Given the description of an element on the screen output the (x, y) to click on. 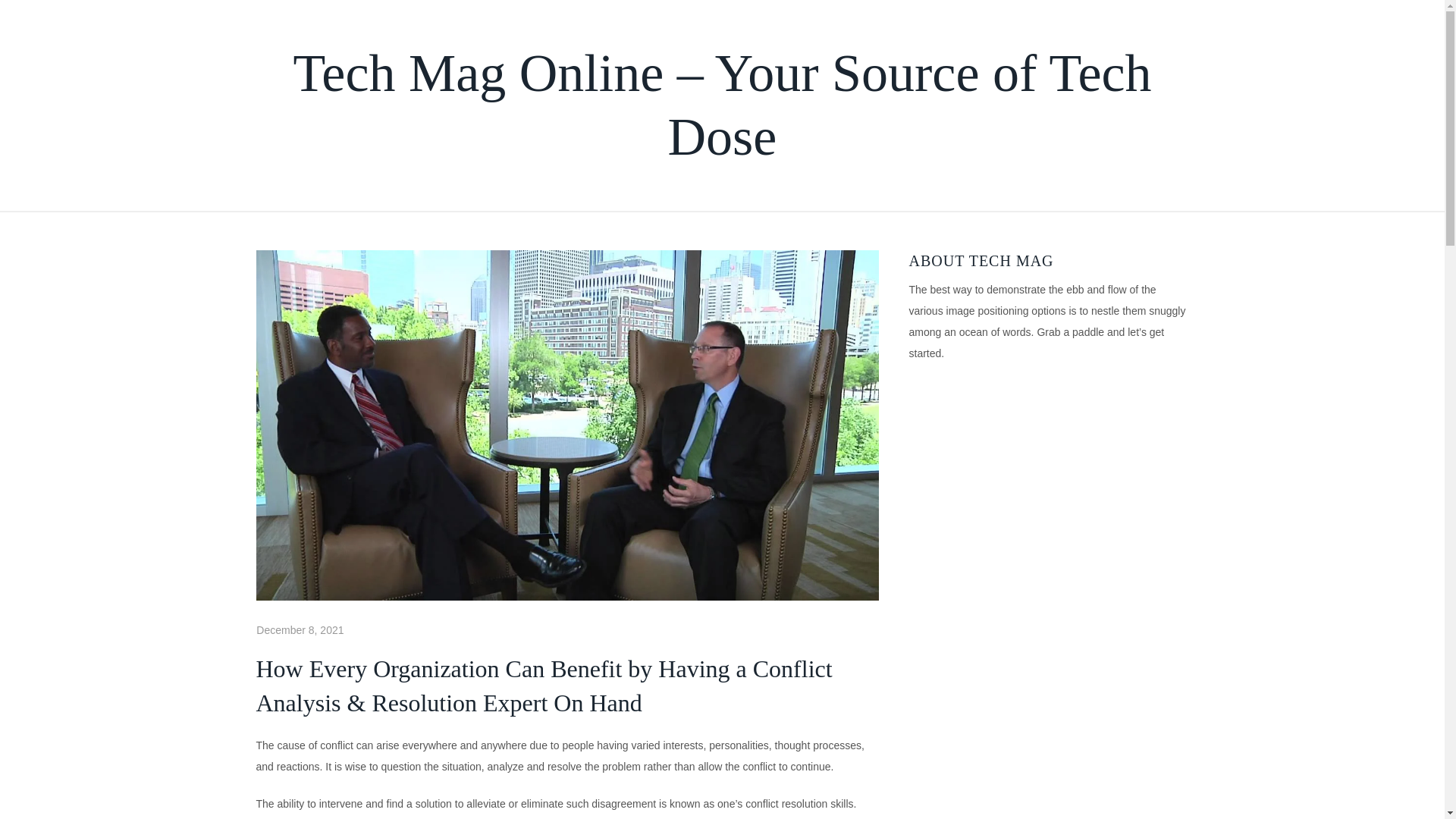
December 8, 2021 (299, 630)
